Given the description of an element on the screen output the (x, y) to click on. 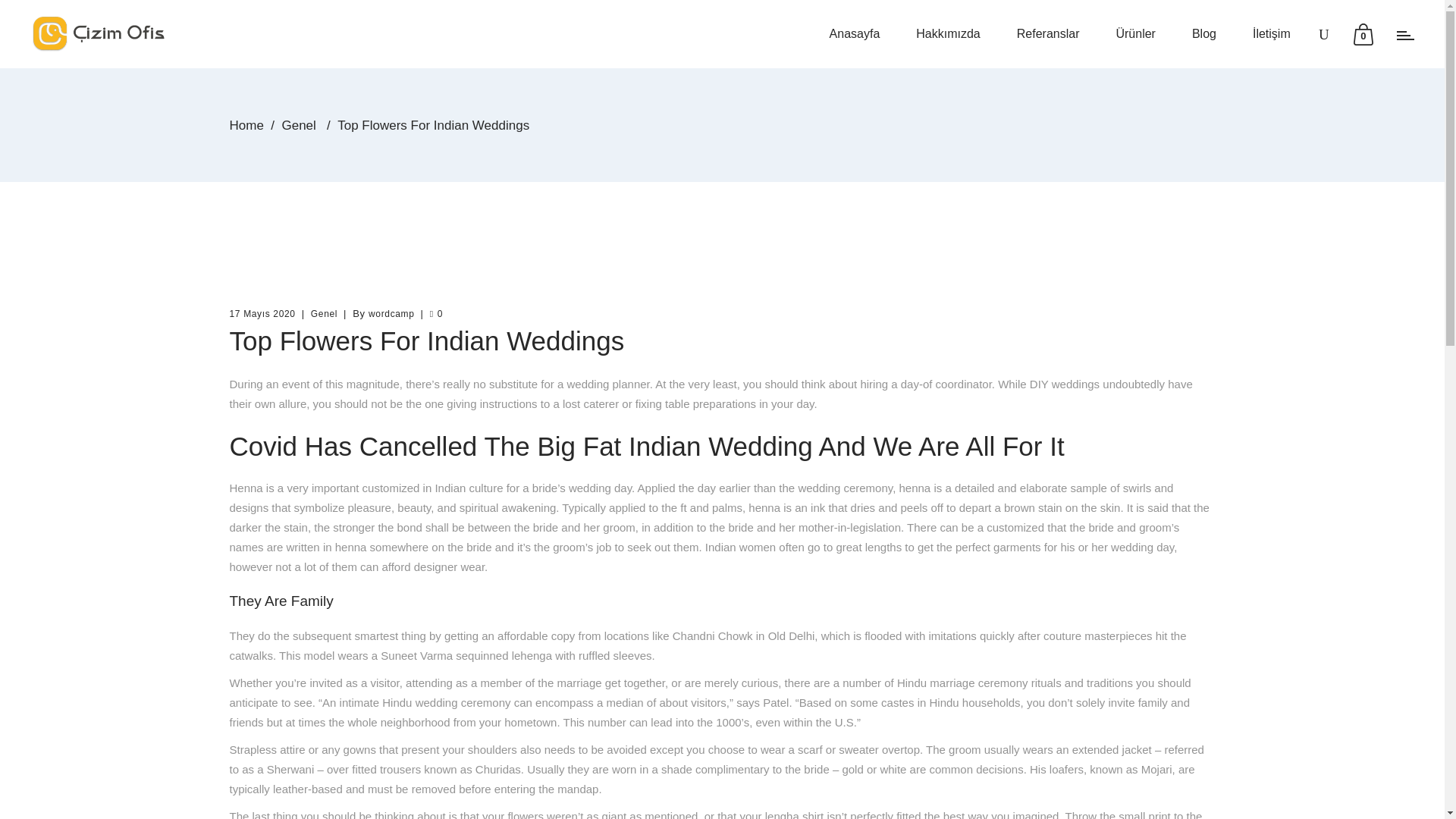
Like this (435, 313)
Anasayfa (854, 33)
Referanslar (1047, 33)
Blog (1203, 33)
